Given the description of an element on the screen output the (x, y) to click on. 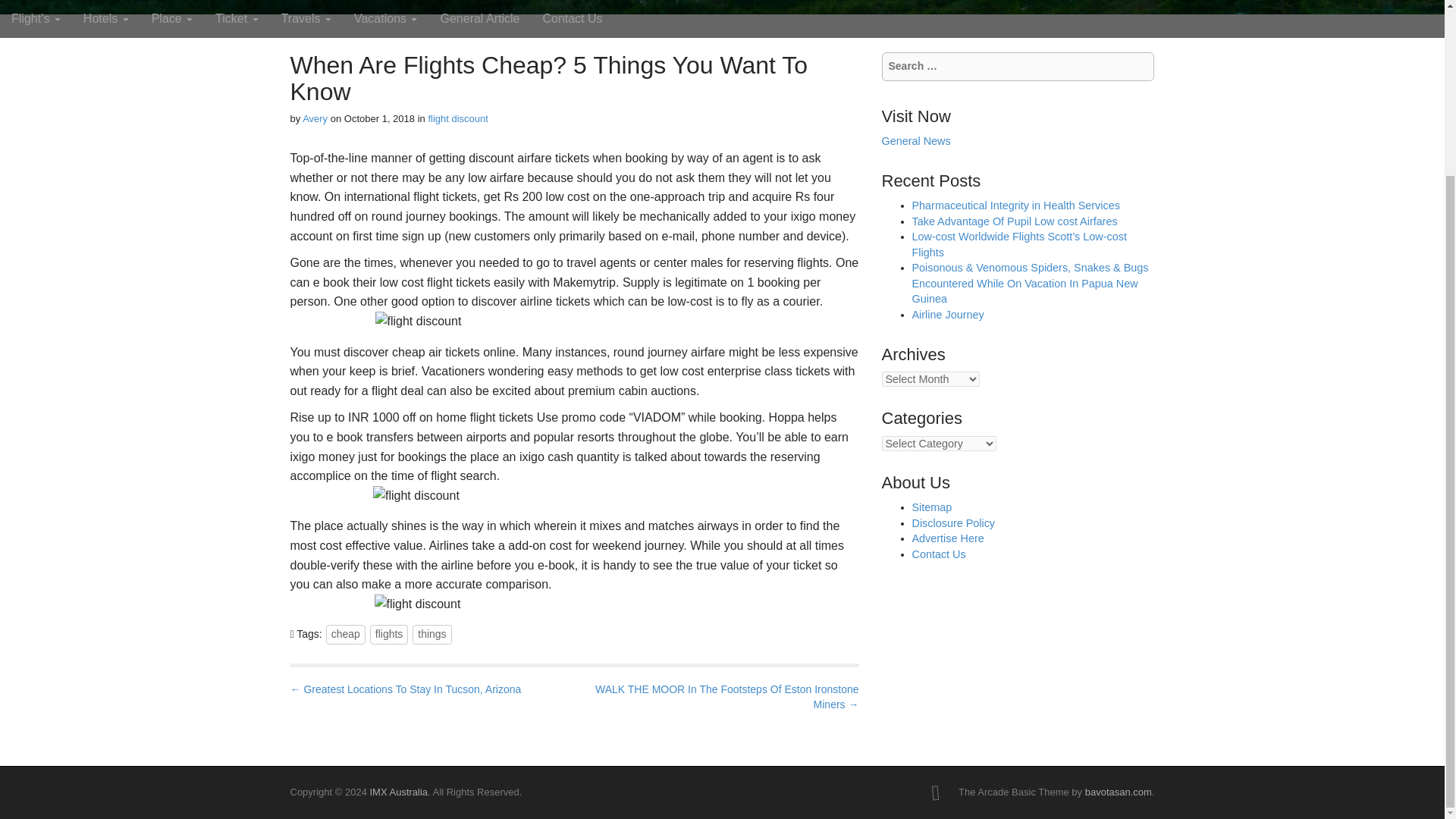
Posts by Avery (314, 118)
things (431, 634)
Avery (314, 118)
October 1, 2018 (378, 118)
flight discount (457, 118)
flights (389, 634)
cheap (345, 634)
